Given the description of an element on the screen output the (x, y) to click on. 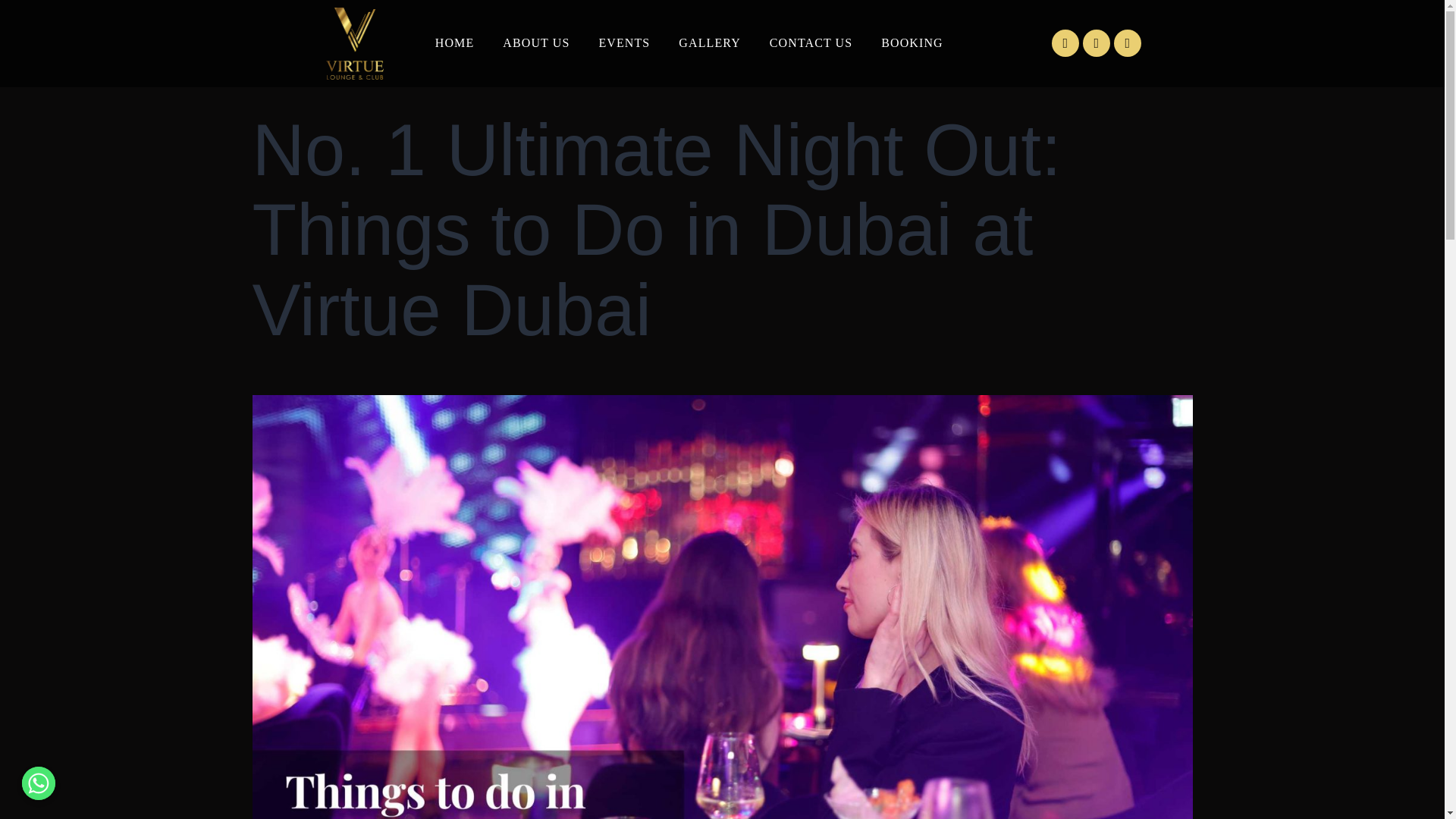
GALLERY (708, 43)
CONTACT US (810, 43)
BOOKING (911, 43)
ABOUT US (535, 43)
EVENTS (623, 43)
